Given the description of an element on the screen output the (x, y) to click on. 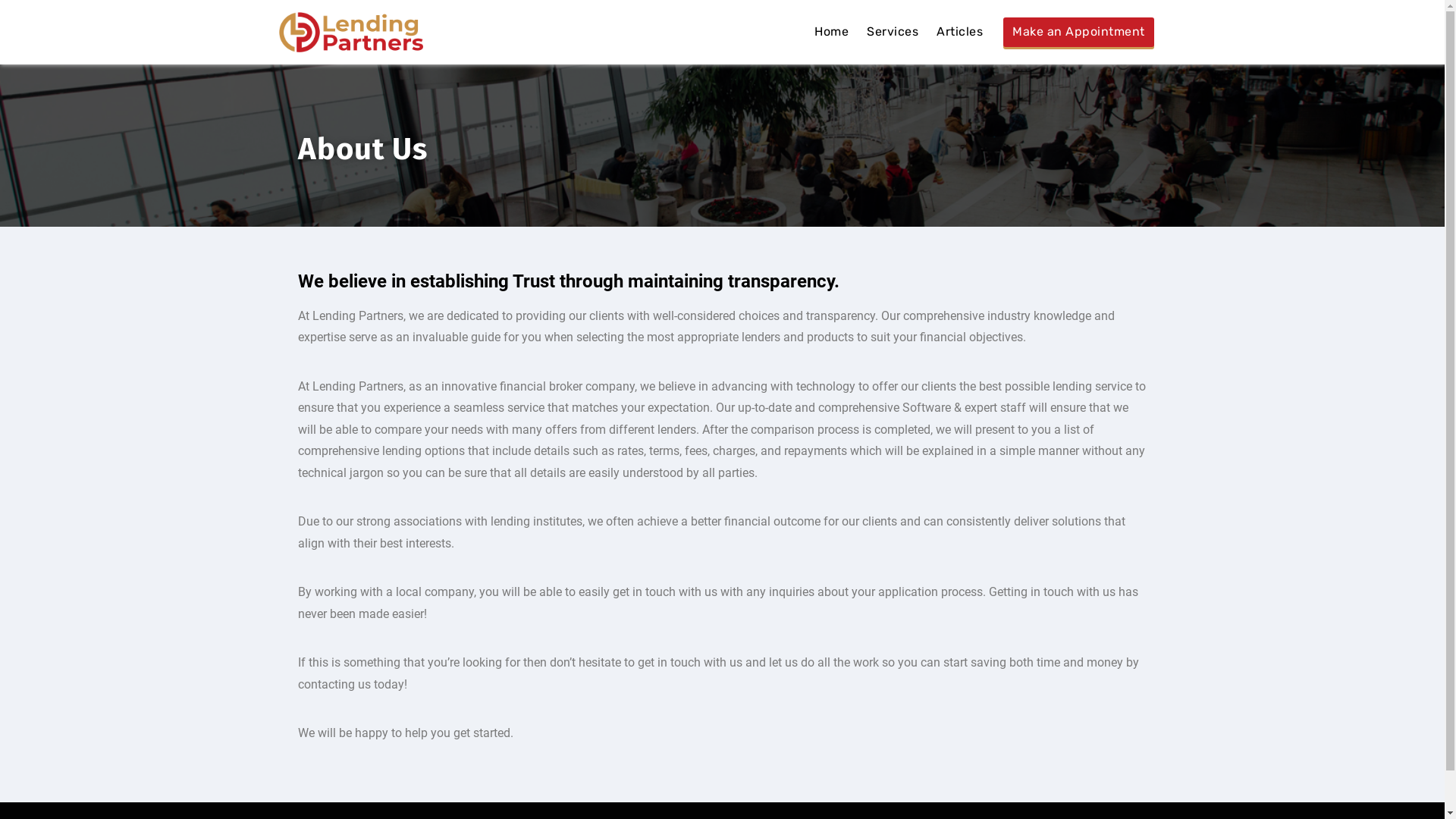
Services Element type: text (892, 31)
Articles Element type: text (959, 31)
Home Element type: text (831, 31)
Make an Appointment Element type: text (1078, 31)
